Given the description of an element on the screen output the (x, y) to click on. 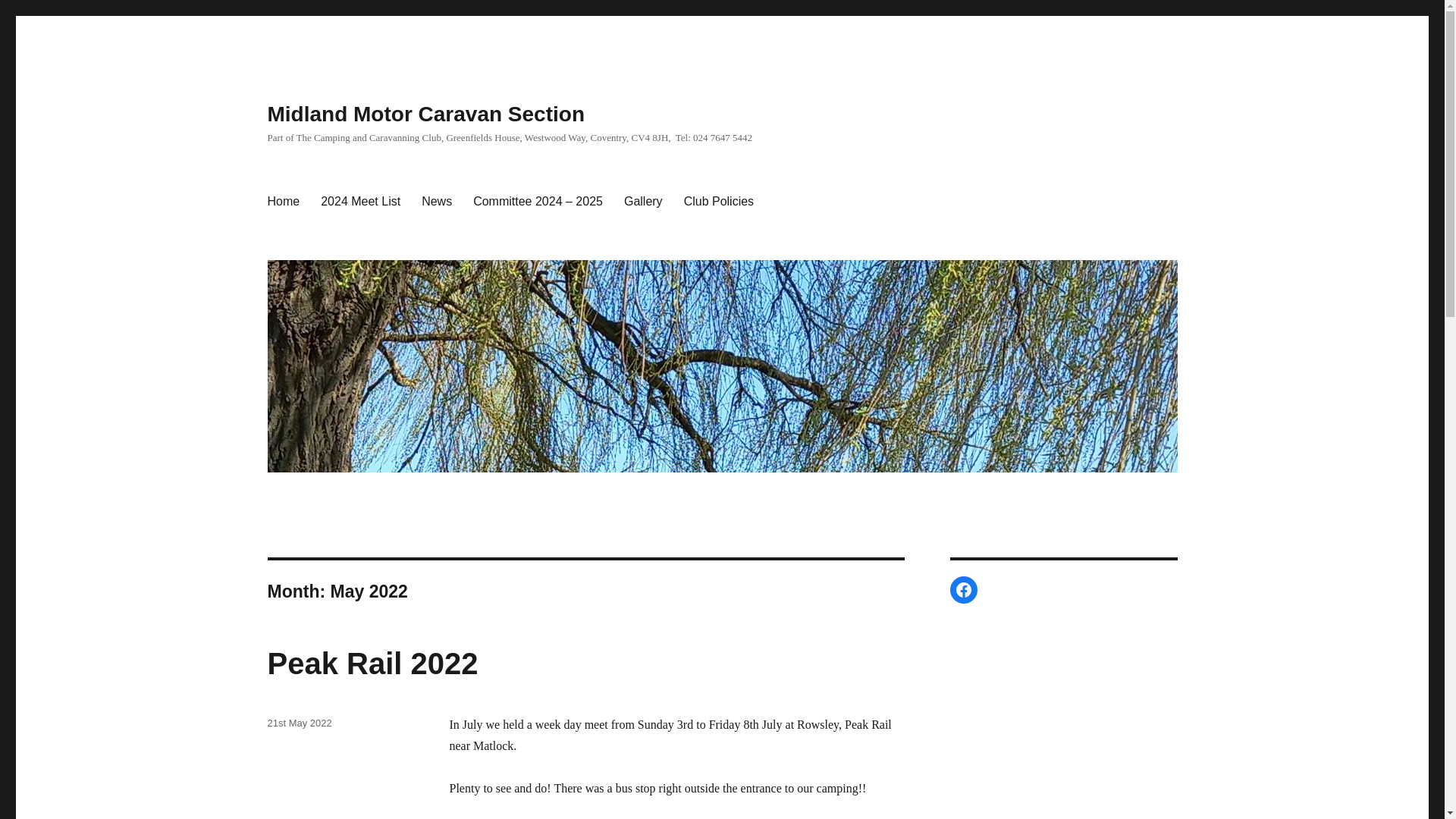
21st May 2022 (298, 722)
Peak Rail 2022 (371, 663)
Facebook (962, 589)
Home (283, 201)
Club Policies (718, 201)
Midland Motor Caravan Section (425, 114)
News (436, 201)
2024 Meet List (360, 201)
Gallery (642, 201)
